Given the description of an element on the screen output the (x, y) to click on. 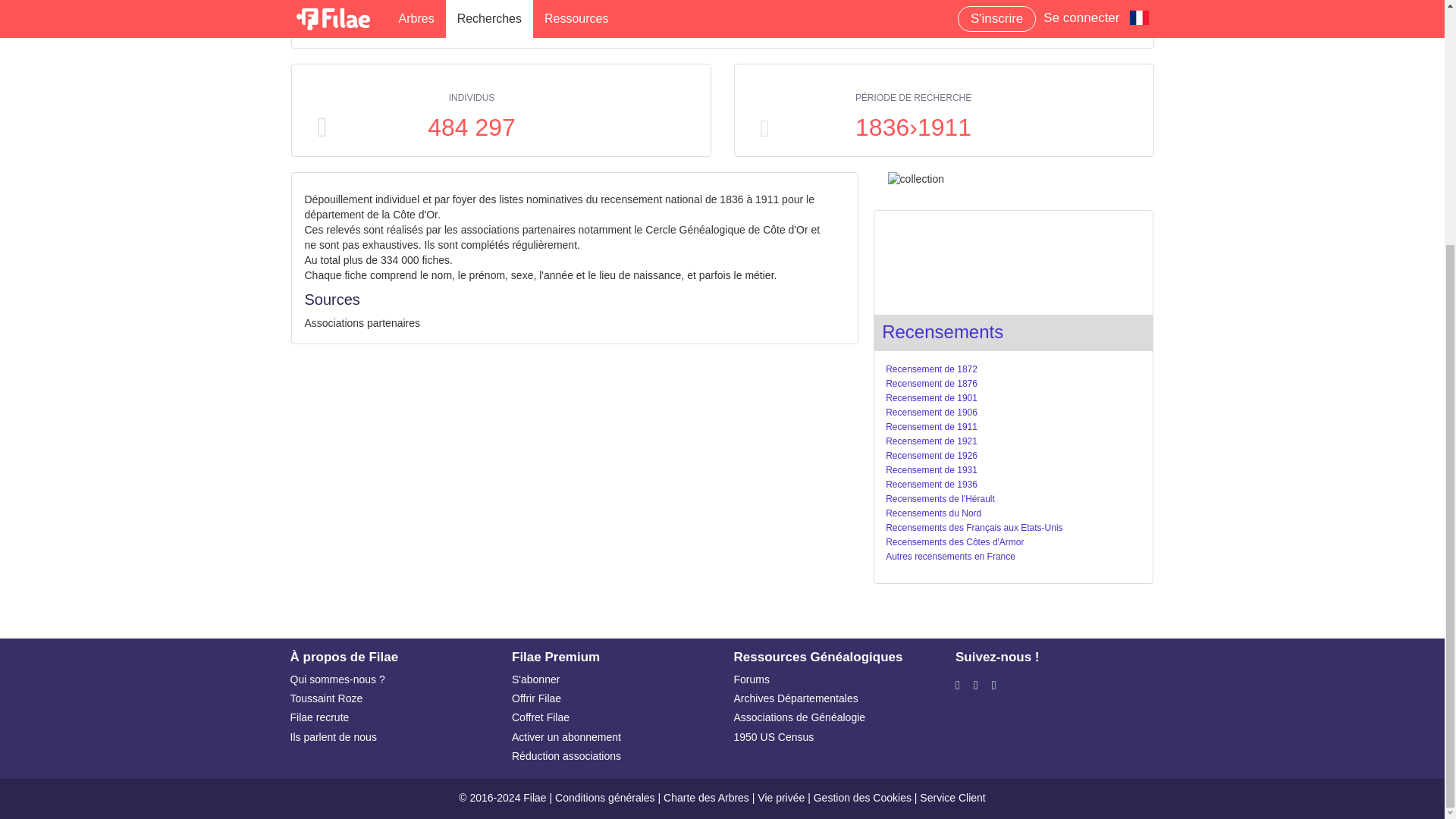
Recensement de 1911 (930, 426)
Filae recrute (389, 717)
1950 US Census (833, 737)
Recensement de 1926 (930, 455)
Charte des Arbres (706, 797)
Coffret Filae (611, 717)
Recensements (942, 331)
Recensement de 1872 (930, 368)
Recensements du Nord (933, 512)
Activer un abonnement (611, 737)
Recensement de 1931 (930, 470)
Recensement de 1921 (930, 440)
Forum (833, 679)
Qui sommes-nous ? (389, 679)
Recensement de 1906 (930, 412)
